Given the description of an element on the screen output the (x, y) to click on. 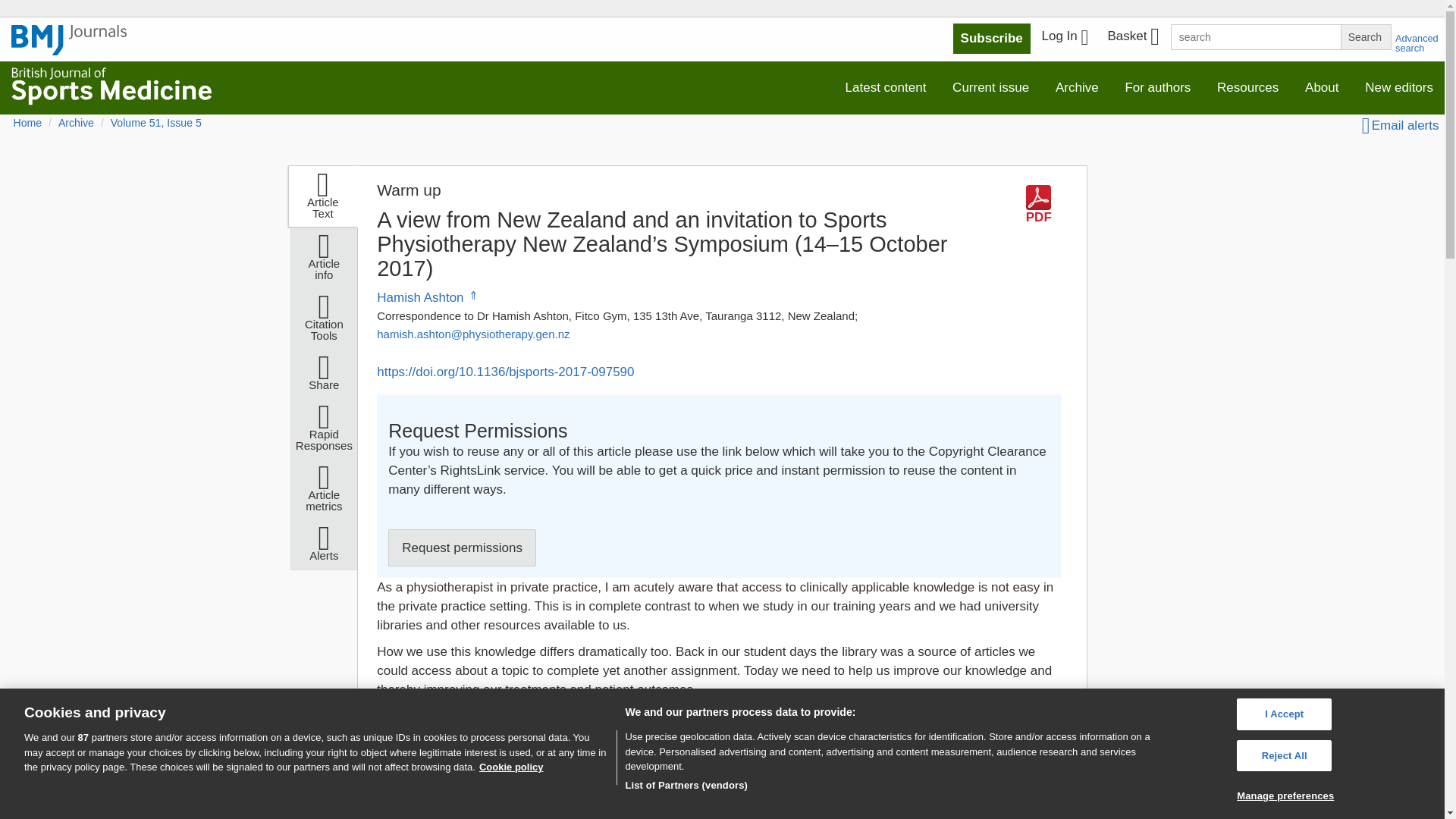
Latest content (885, 87)
Advanced search (1416, 43)
Subscribe (991, 38)
Log In (1064, 38)
BMJ Journals (68, 47)
Search (1364, 36)
Basket (1132, 38)
Current issue (990, 87)
Search (1364, 36)
Archive (1076, 87)
Resources (1247, 87)
About (1321, 87)
For authors (1157, 87)
BMJ Journals (68, 40)
